Given the description of an element on the screen output the (x, y) to click on. 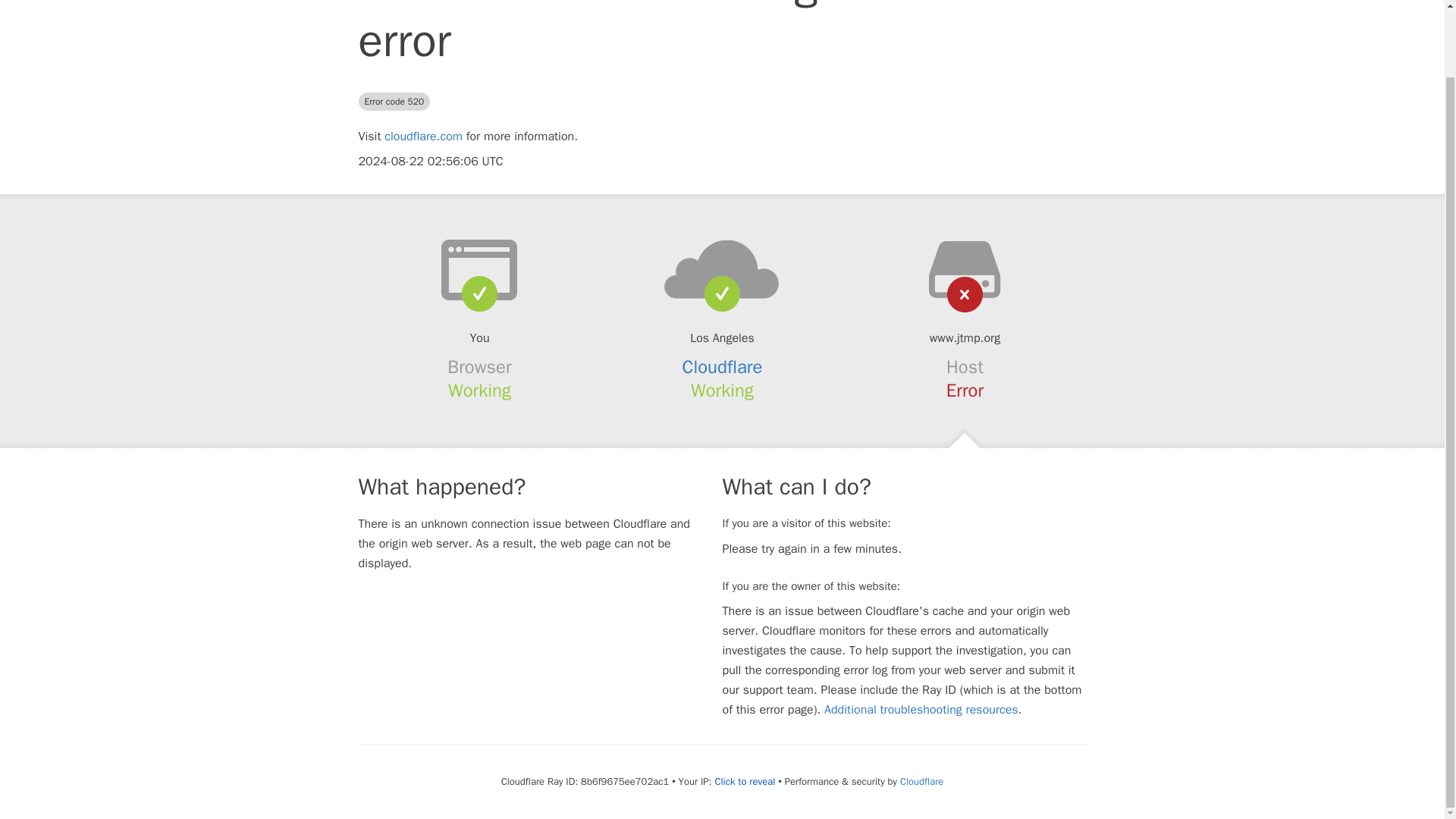
cloudflare.com (423, 136)
Cloudflare (722, 366)
Cloudflare (921, 780)
Additional troubleshooting resources (920, 709)
Click to reveal (744, 781)
